Given the description of an element on the screen output the (x, y) to click on. 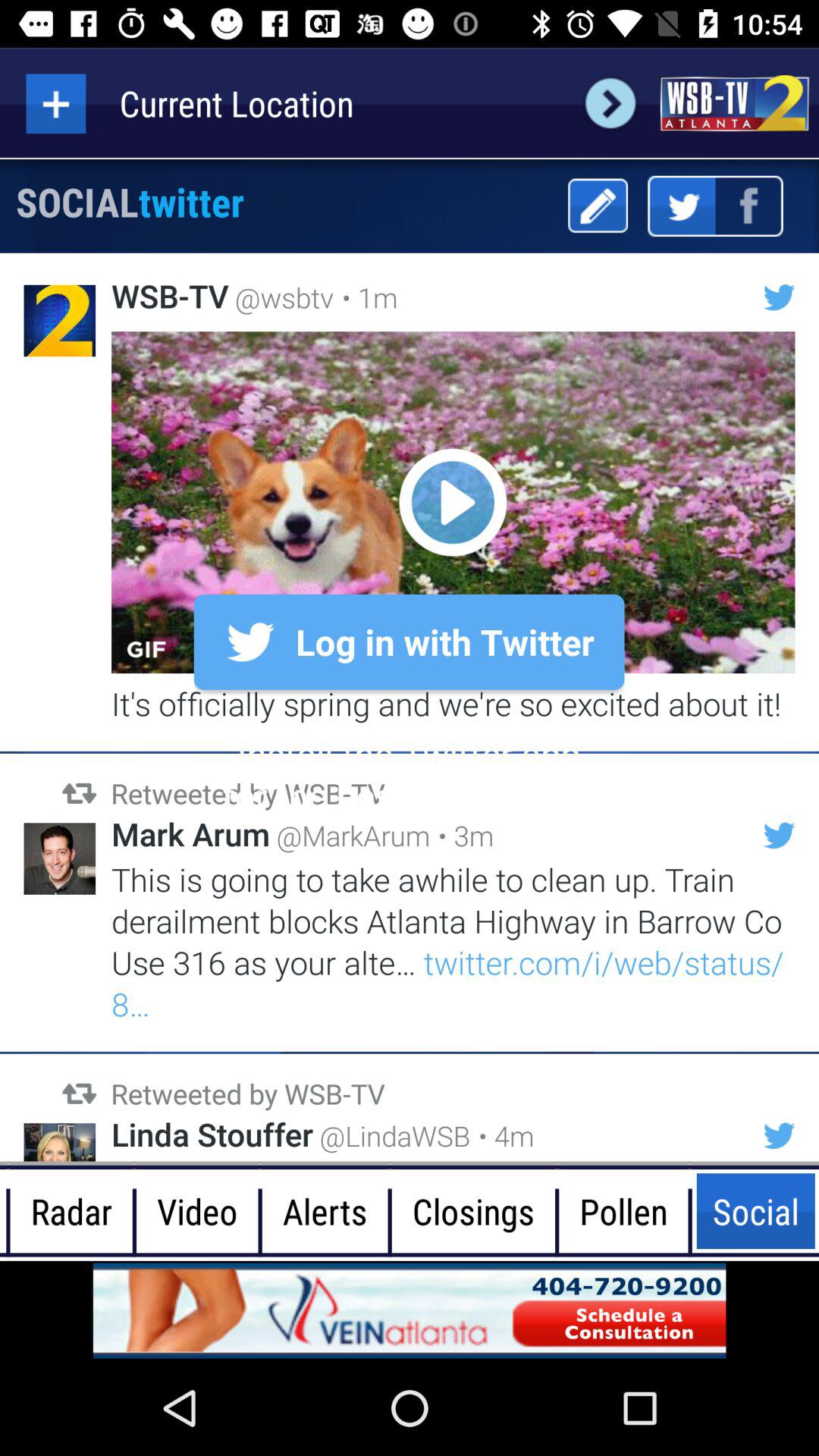
note box (597, 206)
